Given the description of an element on the screen output the (x, y) to click on. 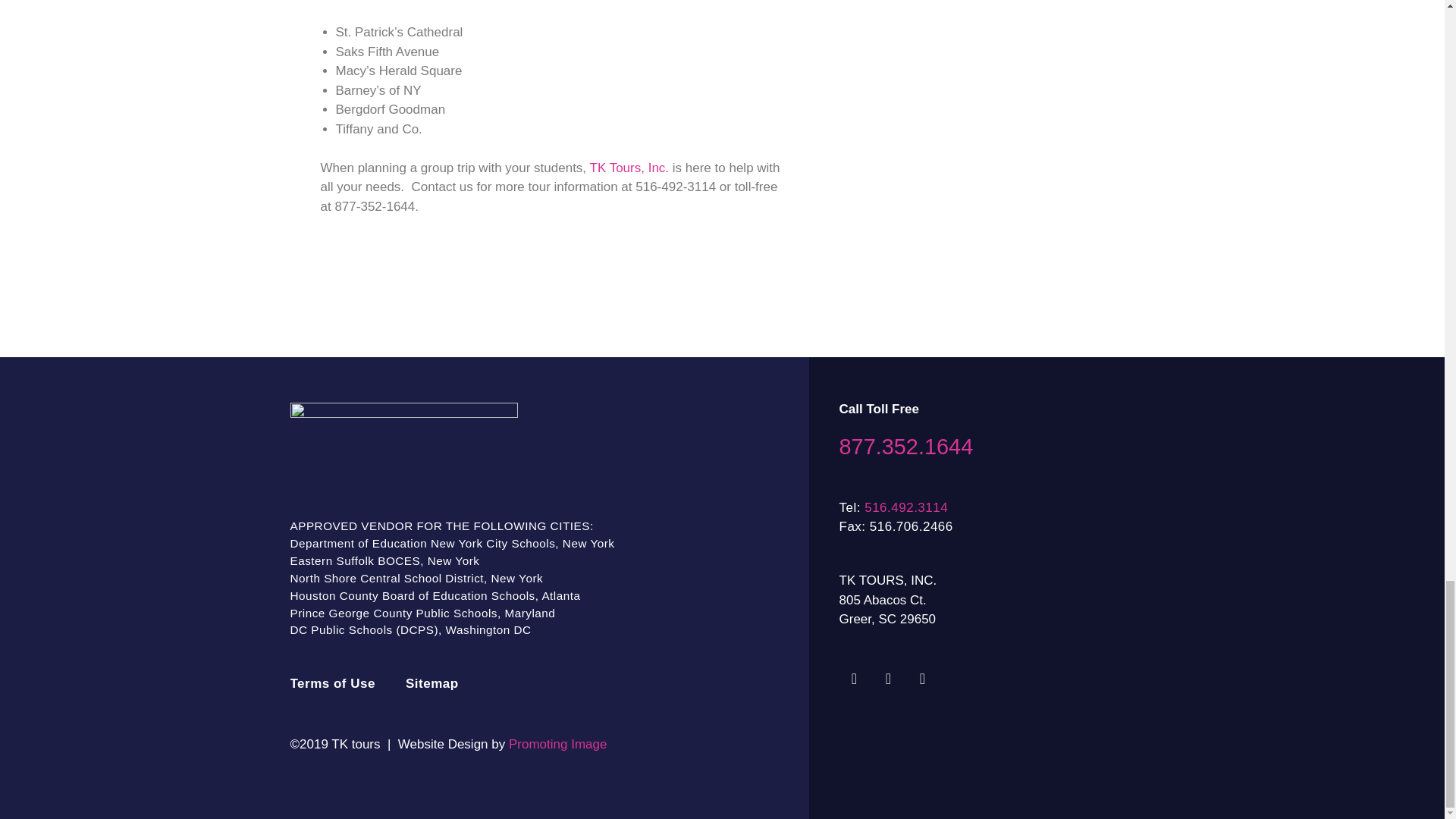
TK Tours, Inc. (629, 167)
